Given the description of an element on the screen output the (x, y) to click on. 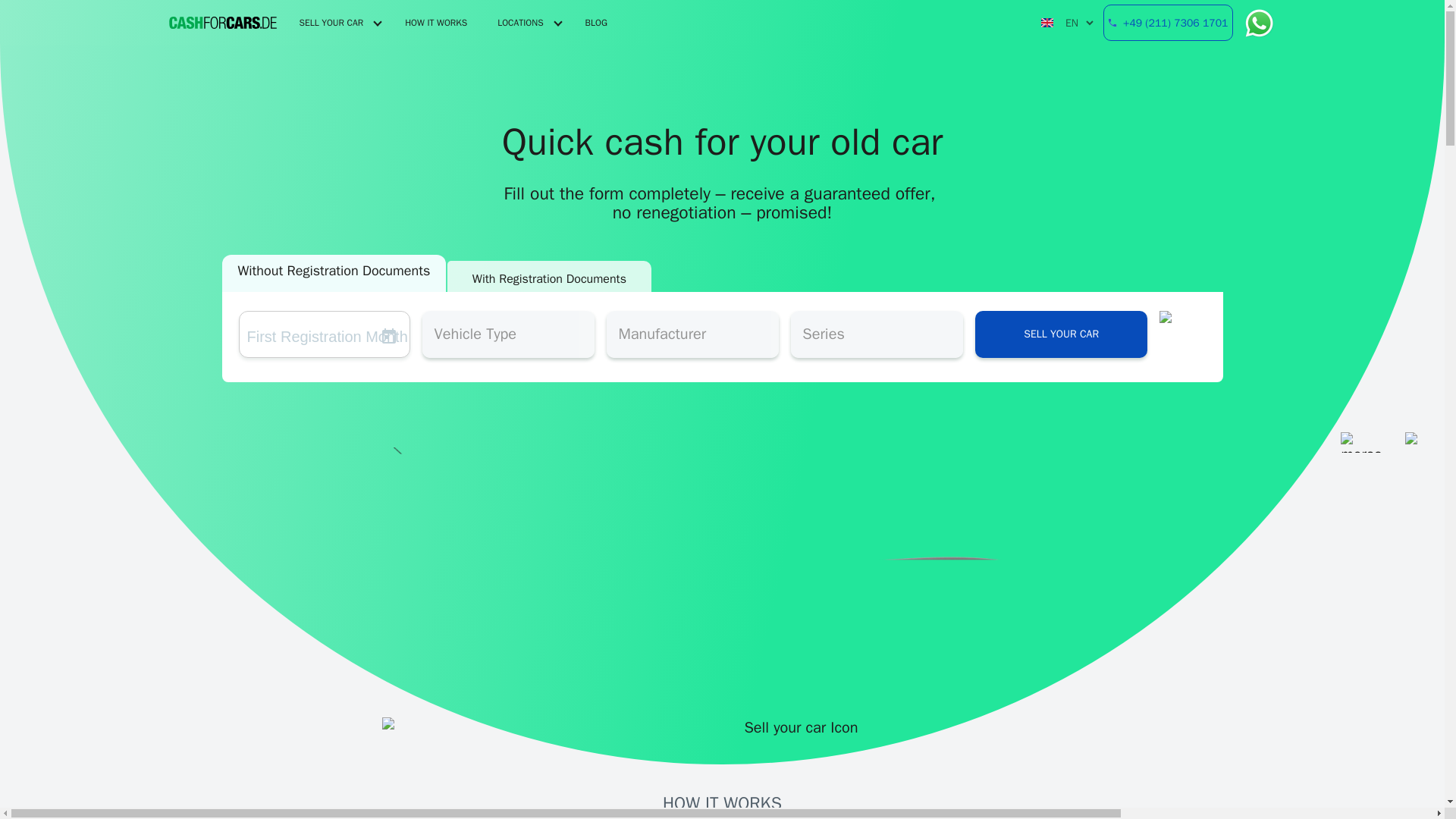
LOCATIONS (520, 23)
WhatsApp (1254, 22)
SELL YOUR CAR (330, 23)
Home (222, 22)
English (1046, 22)
BLOG (596, 23)
HOW IT WORKS (435, 23)
